Given the description of an element on the screen output the (x, y) to click on. 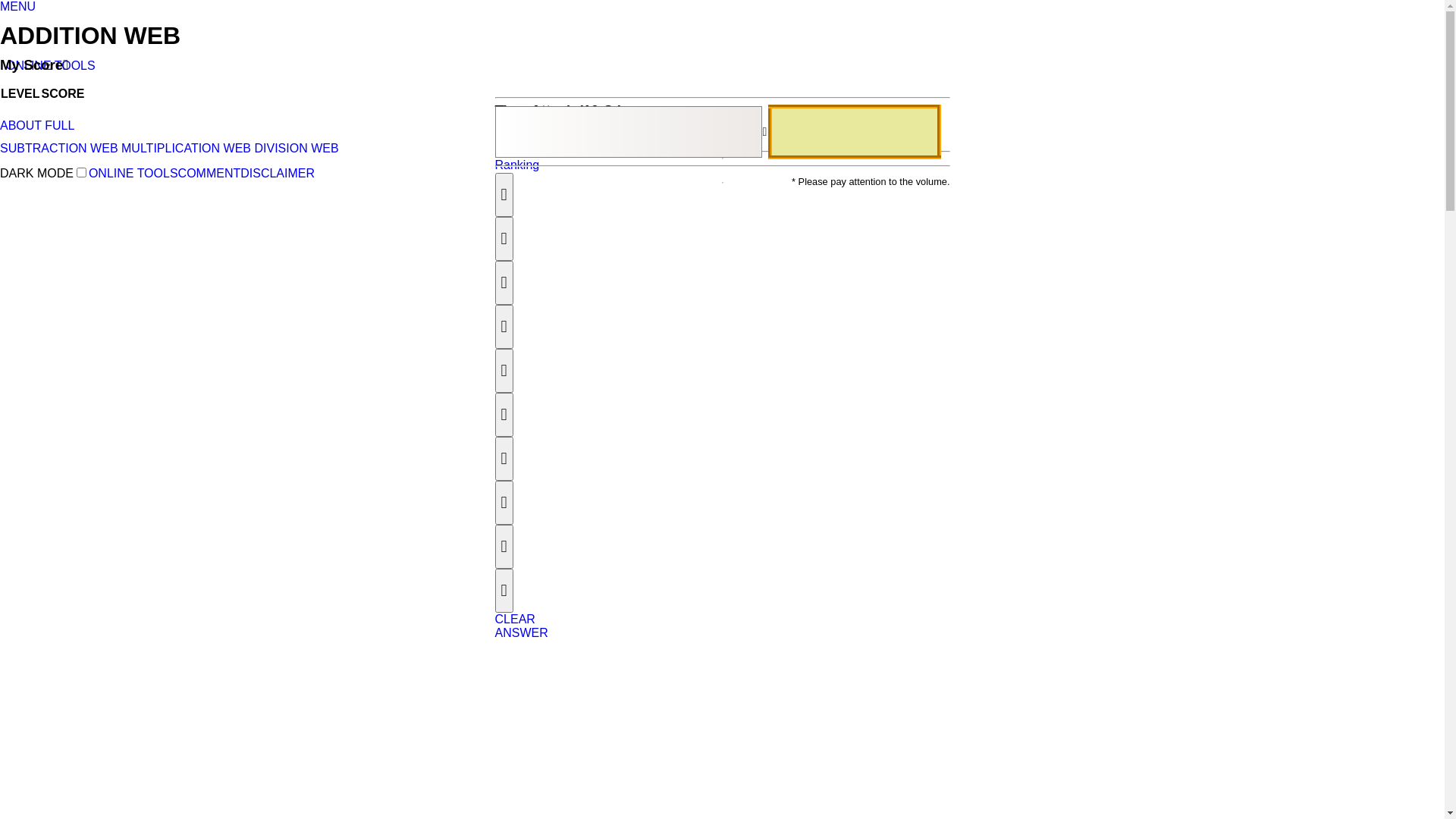
COMMENT Element type: text (209, 172)
ANSWER Element type: text (520, 632)
DIVISION WEB Element type: text (296, 147)
MENU Element type: text (17, 6)
START (Easy) Element type: text (532, 137)
ABOUT Element type: text (20, 125)
FULL Element type: text (59, 125)
DISCLAIMER Element type: text (277, 172)
START (Normal) Element type: text (618, 137)
SAVE Element type: text (510, 153)
SUBTRACTION WEB Element type: text (59, 147)
CLEAR Element type: text (514, 618)
ONLINE TOOLS Element type: text (50, 65)
Ranking Element type: text (516, 164)
ONLINE TOOLS Element type: text (133, 172)
MULTIPLICATION WEB Element type: text (186, 147)
START (Hard) Element type: text (705, 137)
